Given the description of an element on the screen output the (x, y) to click on. 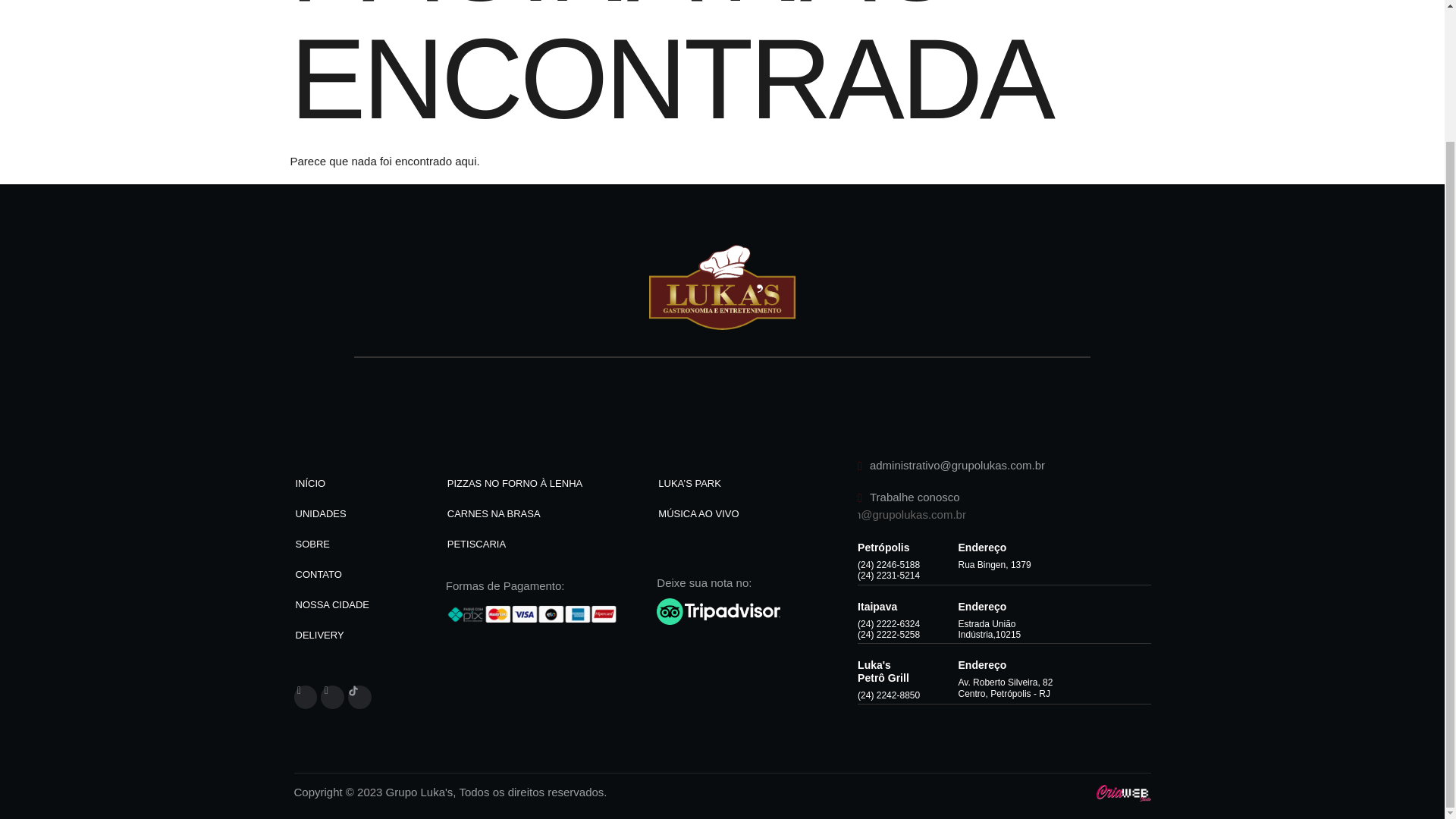
DELIVERY (350, 634)
PETISCARIA (531, 544)
CONTATO (350, 574)
NOSSA CIDADE (350, 604)
CARNES NA BRASA (531, 513)
UNIDADES (350, 513)
SOBRE (350, 544)
